Given the description of an element on the screen output the (x, y) to click on. 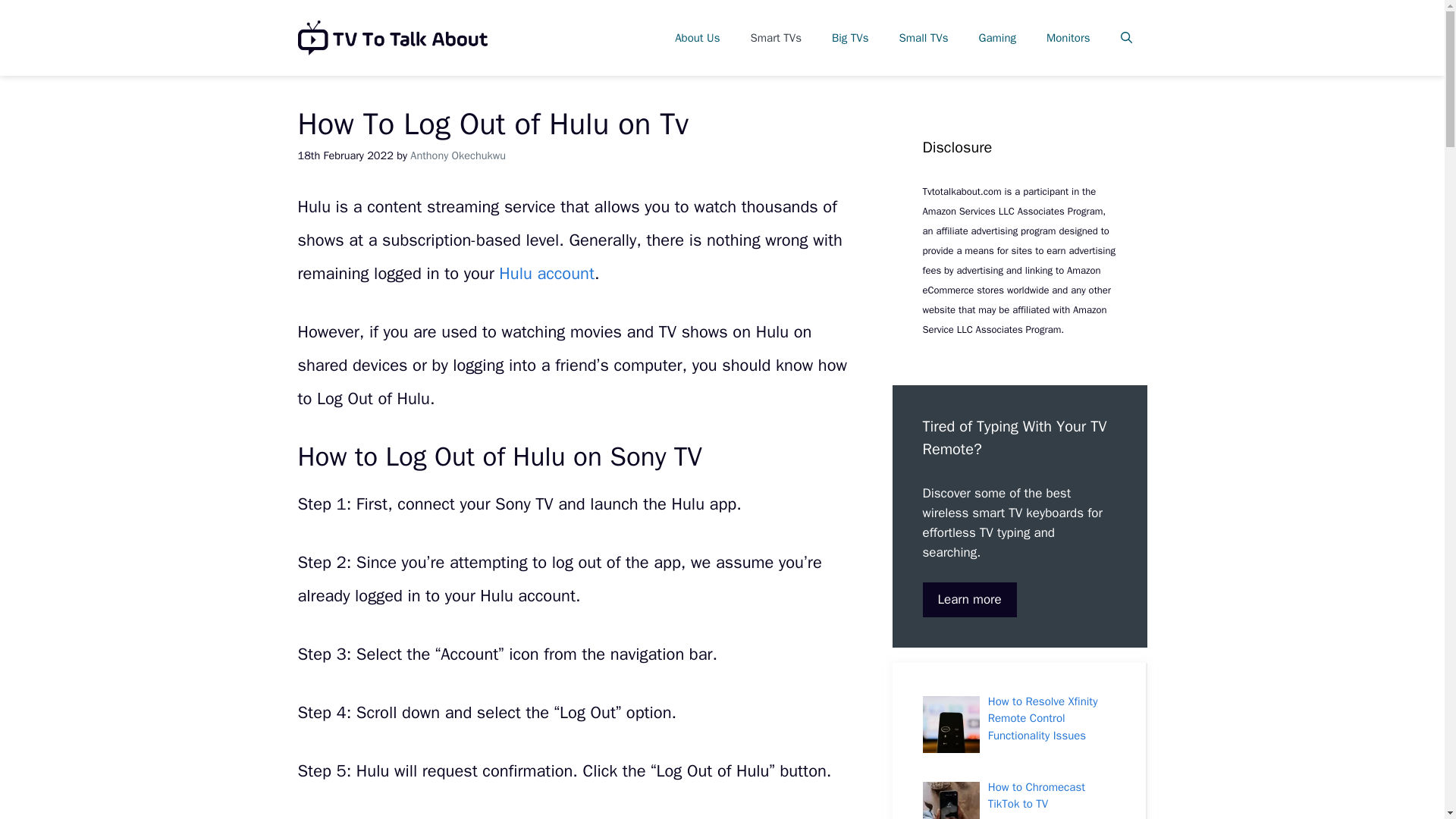
View all posts by Anthony Okechukwu (457, 155)
Smart TVs (775, 37)
How to Chromecast TikTok to TV (1036, 795)
Small TVs (923, 37)
Big TVs (849, 37)
TV To Talk About (391, 38)
About Us (697, 37)
TV To Talk About (391, 36)
Gaming (996, 37)
Anthony Okechukwu (457, 155)
